Given the description of an element on the screen output the (x, y) to click on. 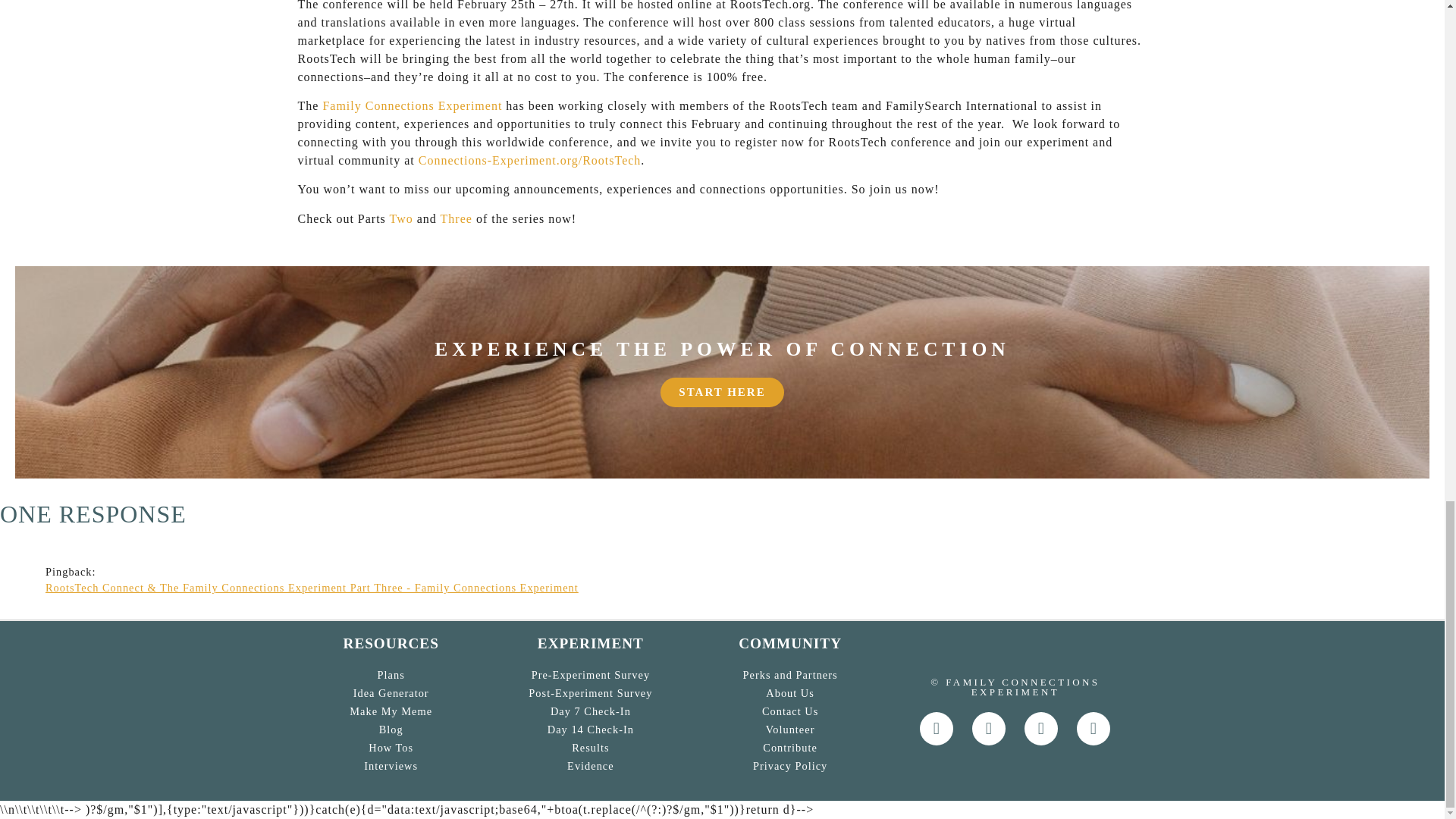
Blog (411, 105)
Idea Generator (390, 729)
How Tos (391, 693)
Make My Meme (390, 747)
Three (390, 711)
Plans (456, 218)
Two (390, 674)
